Given the description of an element on the screen output the (x, y) to click on. 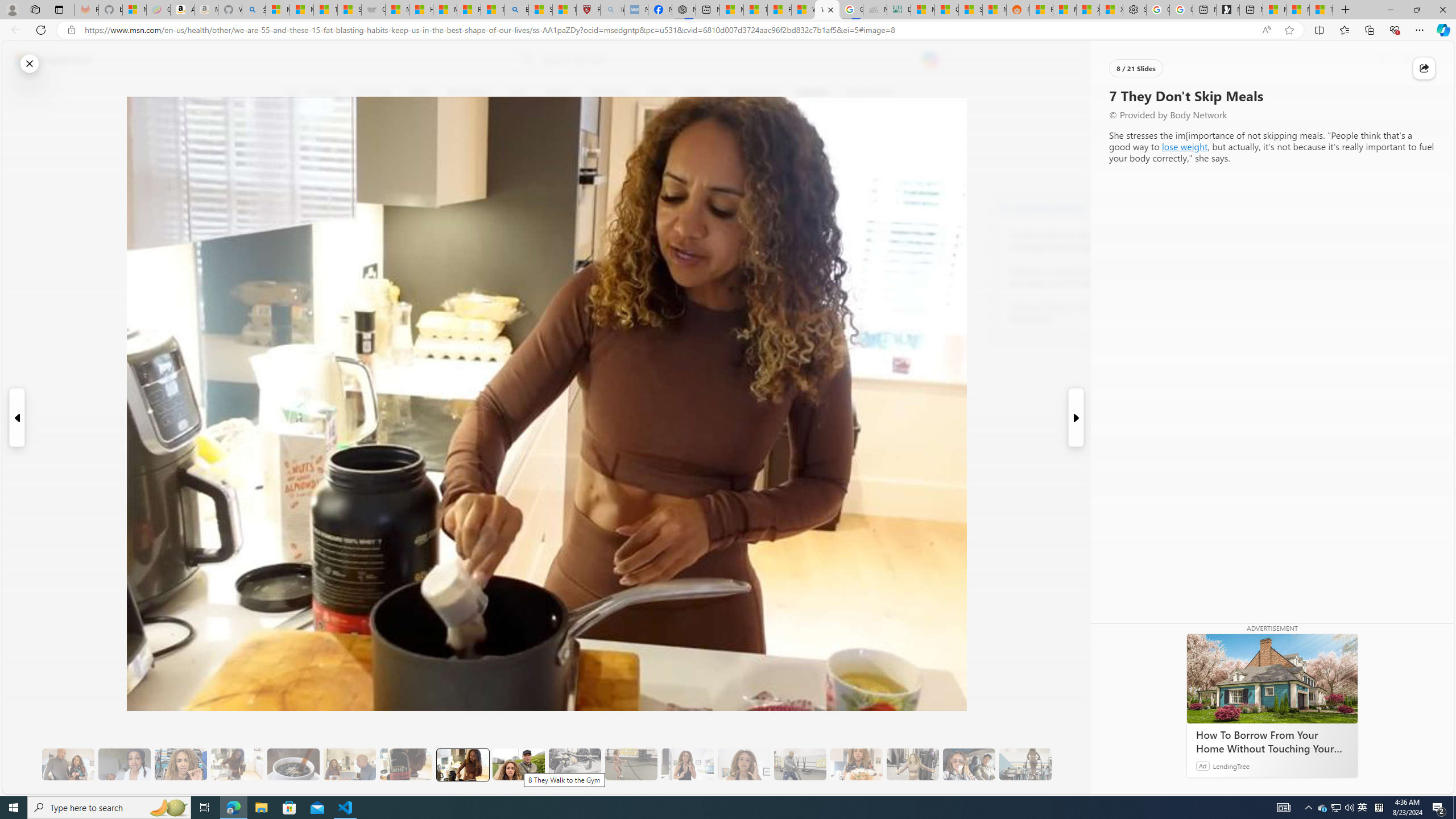
Open navigation menu (292, 92)
Open settings (1427, 60)
1 We Eat a Protein-Packed Pre-Workout Snack (124, 764)
9 They Do Bench Exercises (574, 764)
12 Popular Science Lies that Must be Corrected (563, 9)
1 We Eat a Protein-Packed Pre-Workout Snack (124, 764)
Lifestyle (812, 92)
How I Got Rid of Microsoft Edge's Unnecessary Features (421, 9)
